Given the description of an element on the screen output the (x, y) to click on. 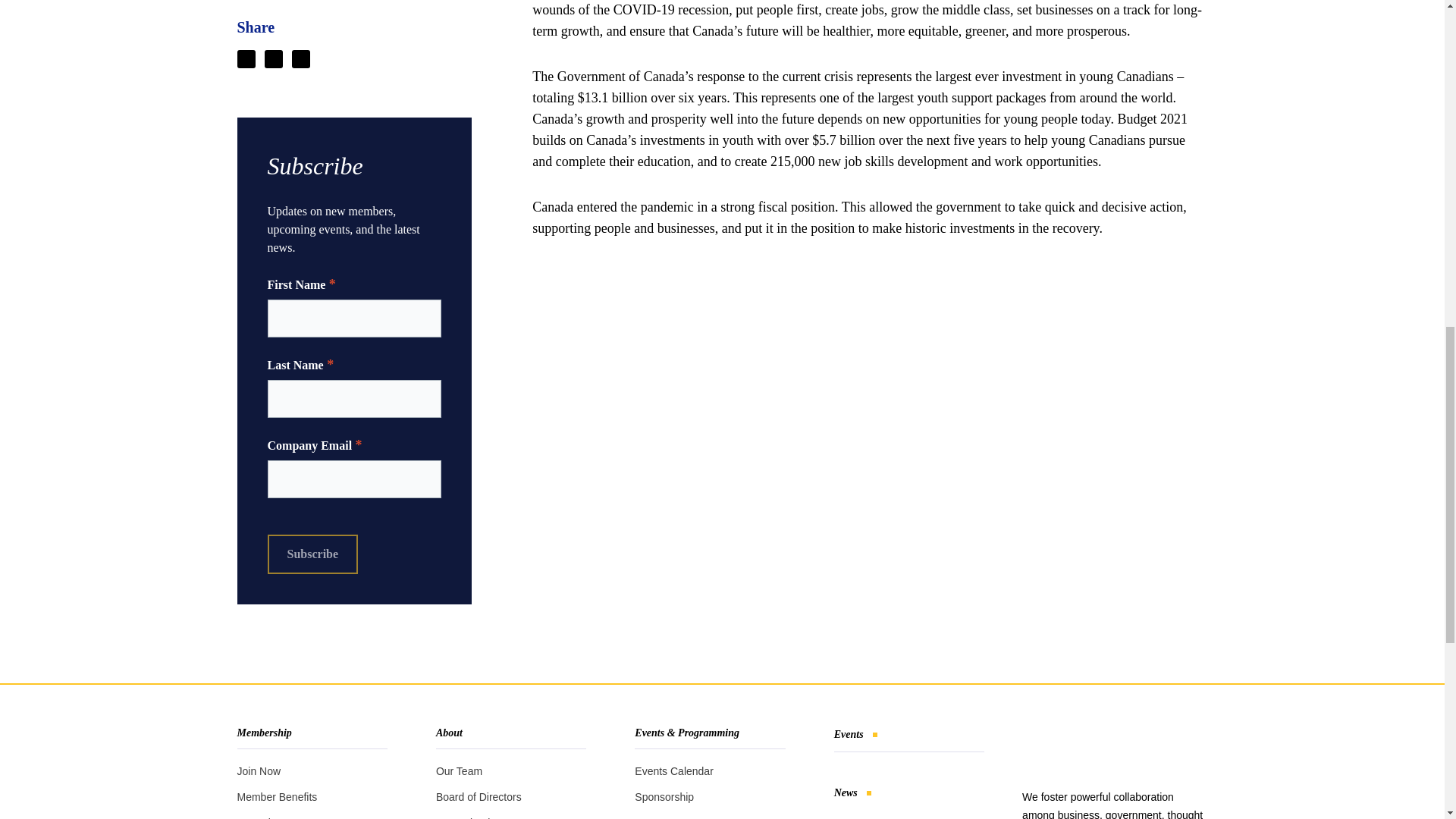
Subscribe (312, 554)
